Given the description of an element on the screen output the (x, y) to click on. 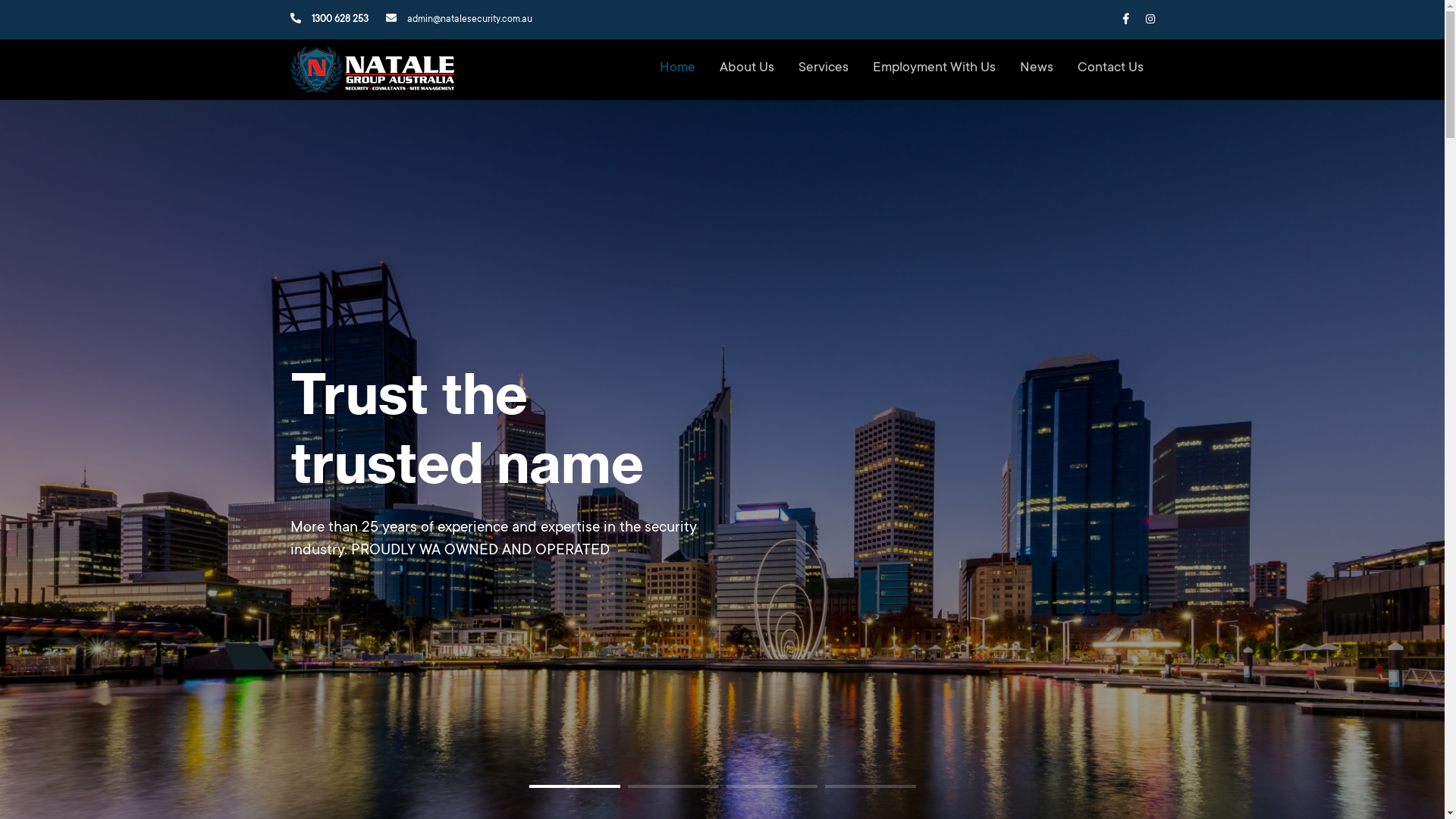
3 Element type: text (771, 785)
4 Element type: text (870, 785)
Contact Us Element type: text (1109, 67)
2 Element type: text (672, 785)
News Element type: text (1035, 67)
admin@natalesecurity.com.au Element type: text (458, 19)
Home Element type: text (677, 67)
1300 628 253 Element type: text (328, 19)
1 Element type: text (574, 785)
Employment With Us Element type: text (933, 67)
About Us Element type: text (745, 67)
Services Element type: text (822, 67)
